Given the description of an element on the screen output the (x, y) to click on. 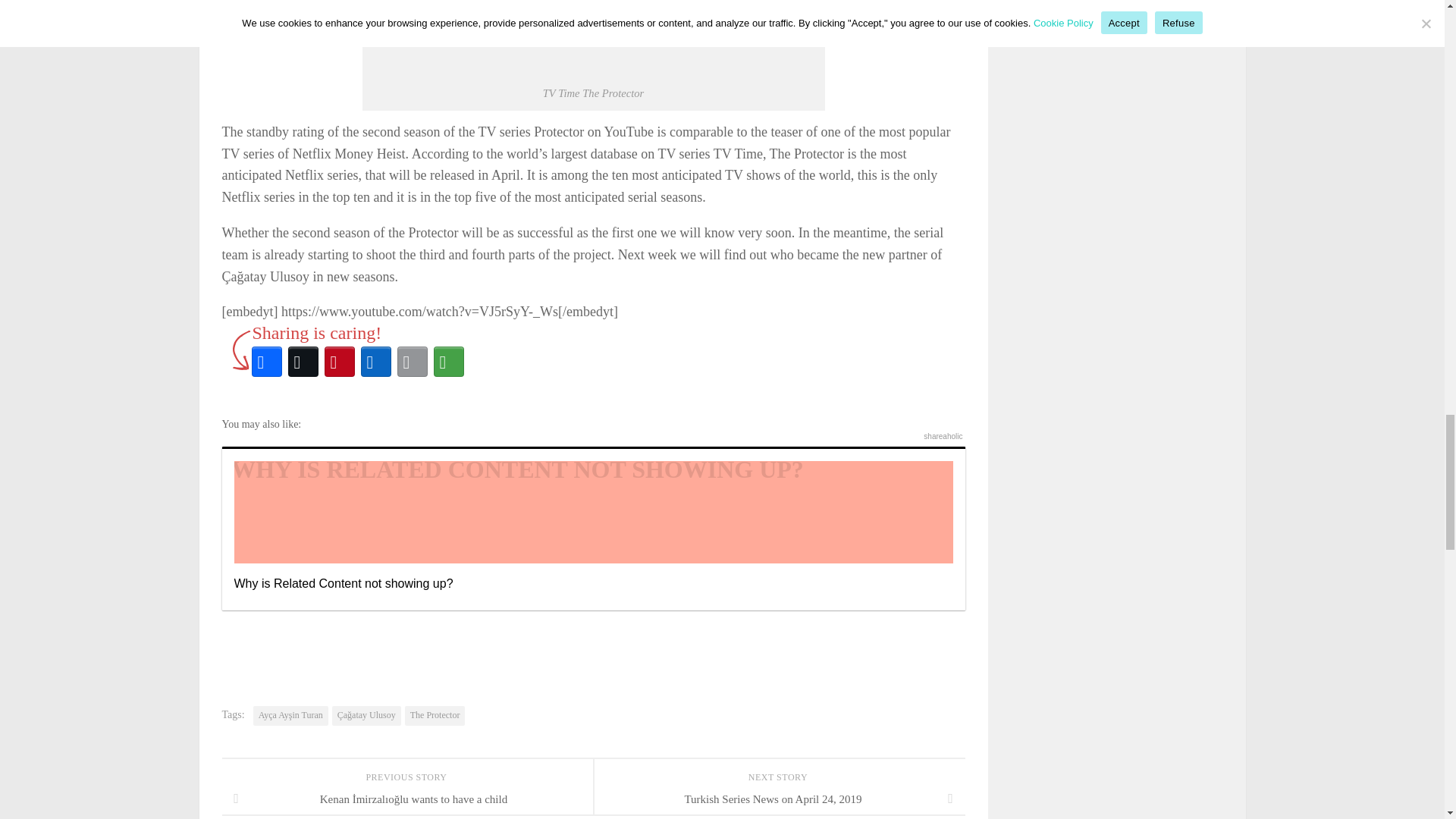
Why is Related Content not showing up? (592, 528)
Website Tools by Shareaholic (942, 436)
The Protector (434, 715)
Turkish Series News on April 24, 2019 (777, 799)
Email This (412, 361)
shareaholic (942, 436)
LinkedIn (376, 361)
Facebook (266, 361)
More Options (448, 361)
Pinterest (339, 361)
